Given the description of an element on the screen output the (x, y) to click on. 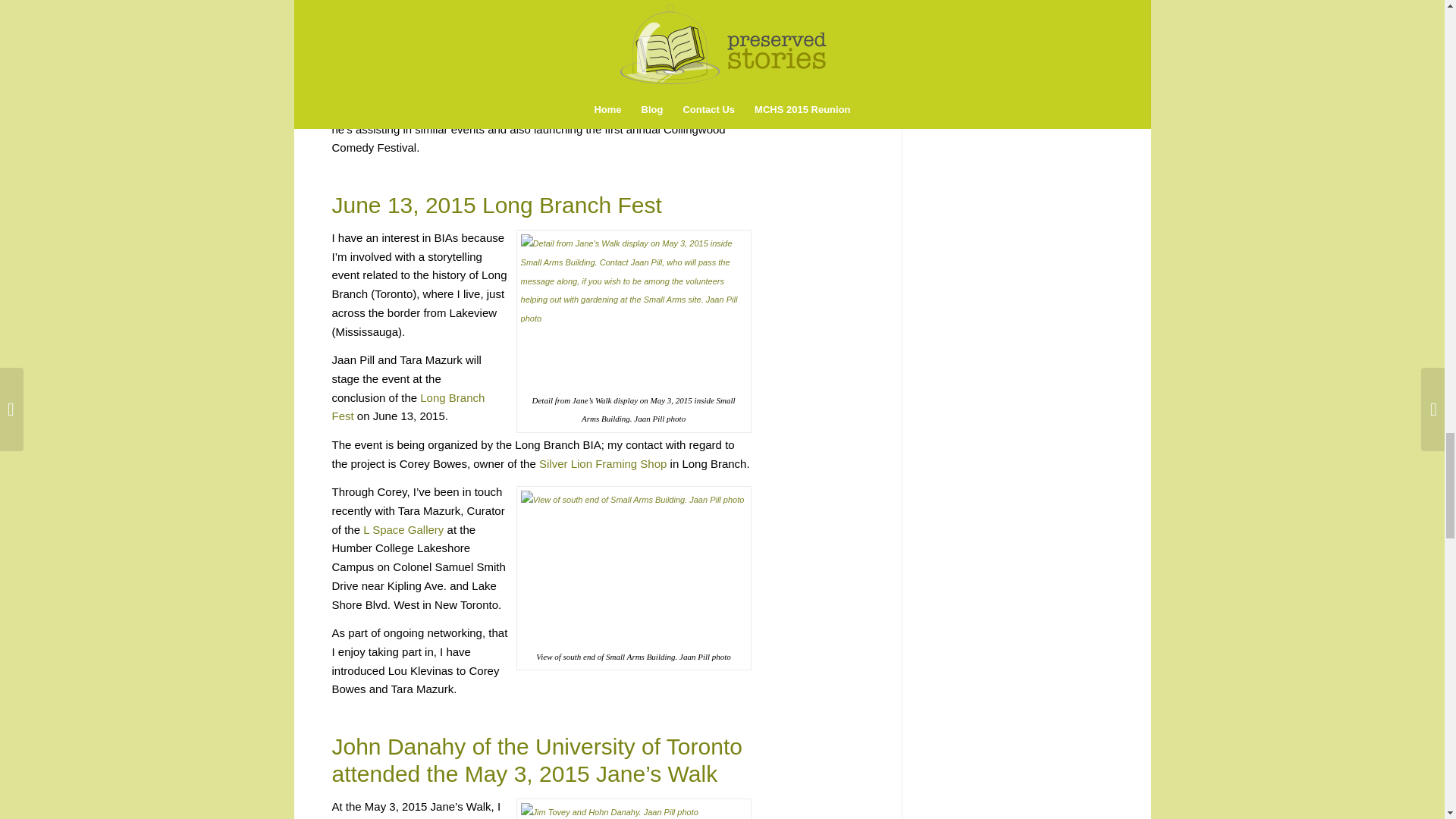
L Space Gallery (403, 529)
Silver Lion Framing Shop (602, 462)
Long Branch Fest (407, 407)
